Given the description of an element on the screen output the (x, y) to click on. 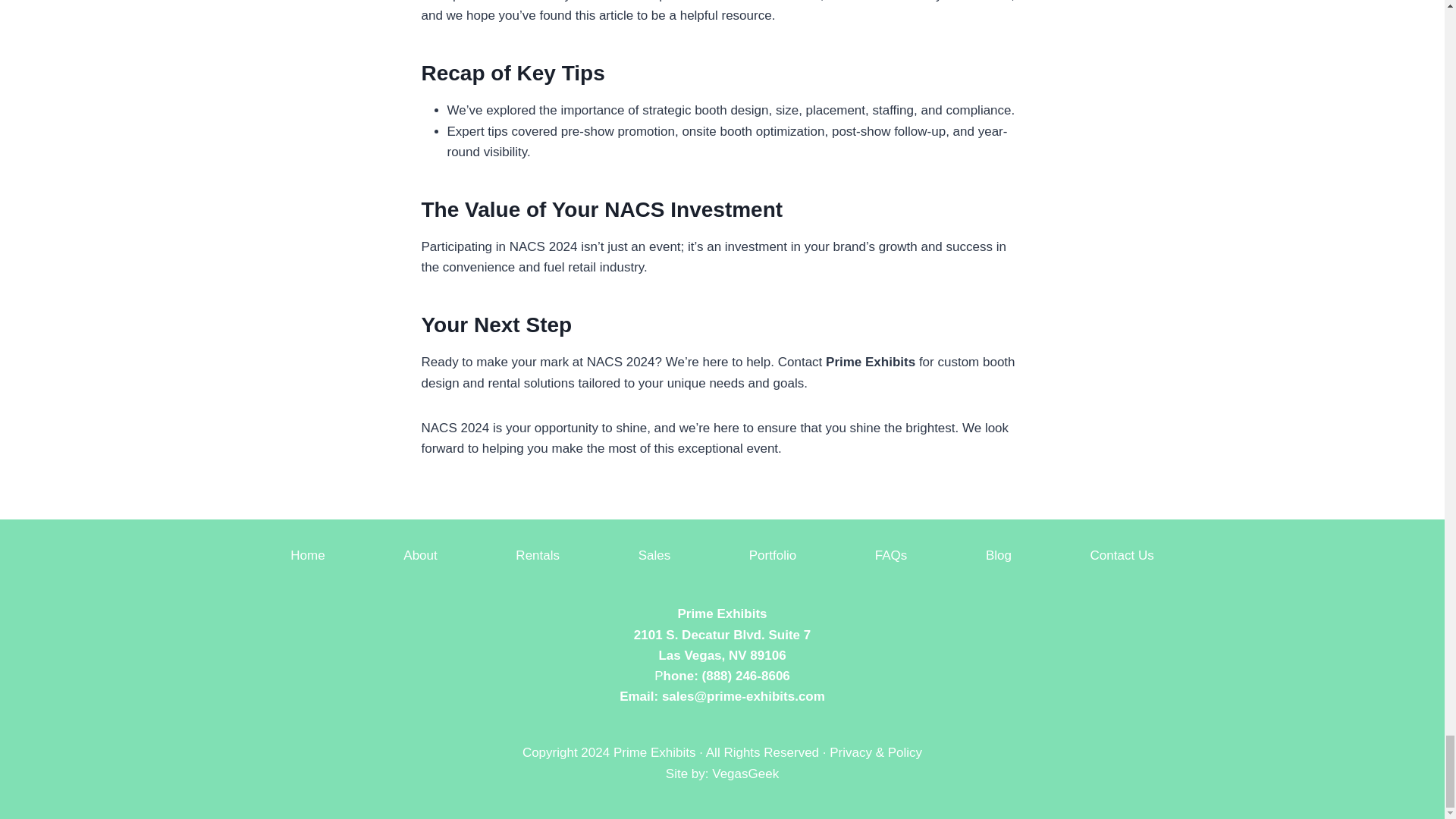
Sales (654, 555)
Home (307, 555)
About (420, 555)
FAQs (891, 555)
Blog (998, 555)
Portfolio (773, 555)
Rentals (537, 555)
